Given the description of an element on the screen output the (x, y) to click on. 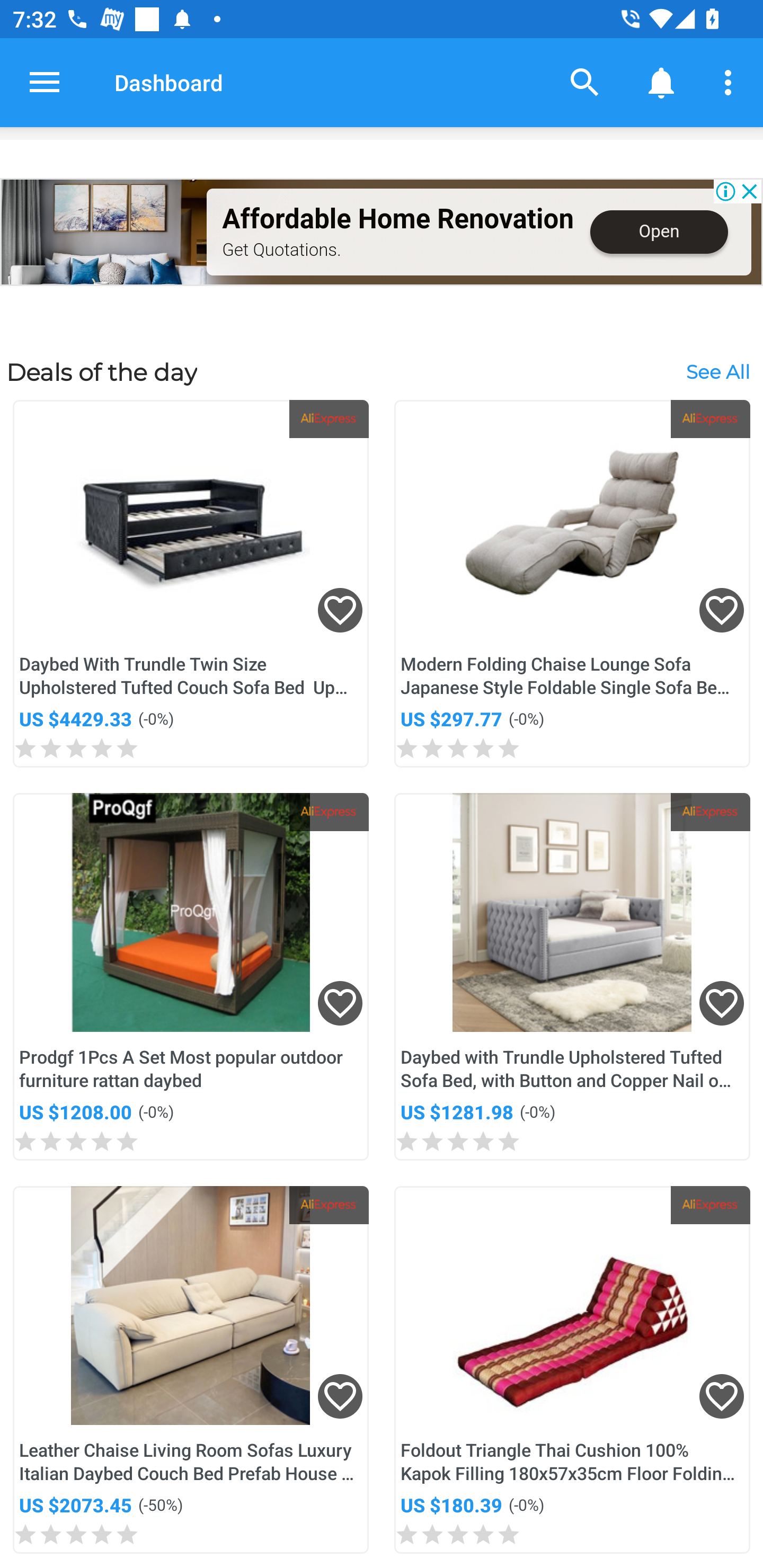
Open navigation drawer (44, 82)
Search (585, 81)
More options (731, 81)
free-quote (104, 231)
Affordable Home Renovation (397, 219)
Open (658, 232)
Get Quotations. (281, 249)
See All (717, 371)
